Given the description of an element on the screen output the (x, y) to click on. 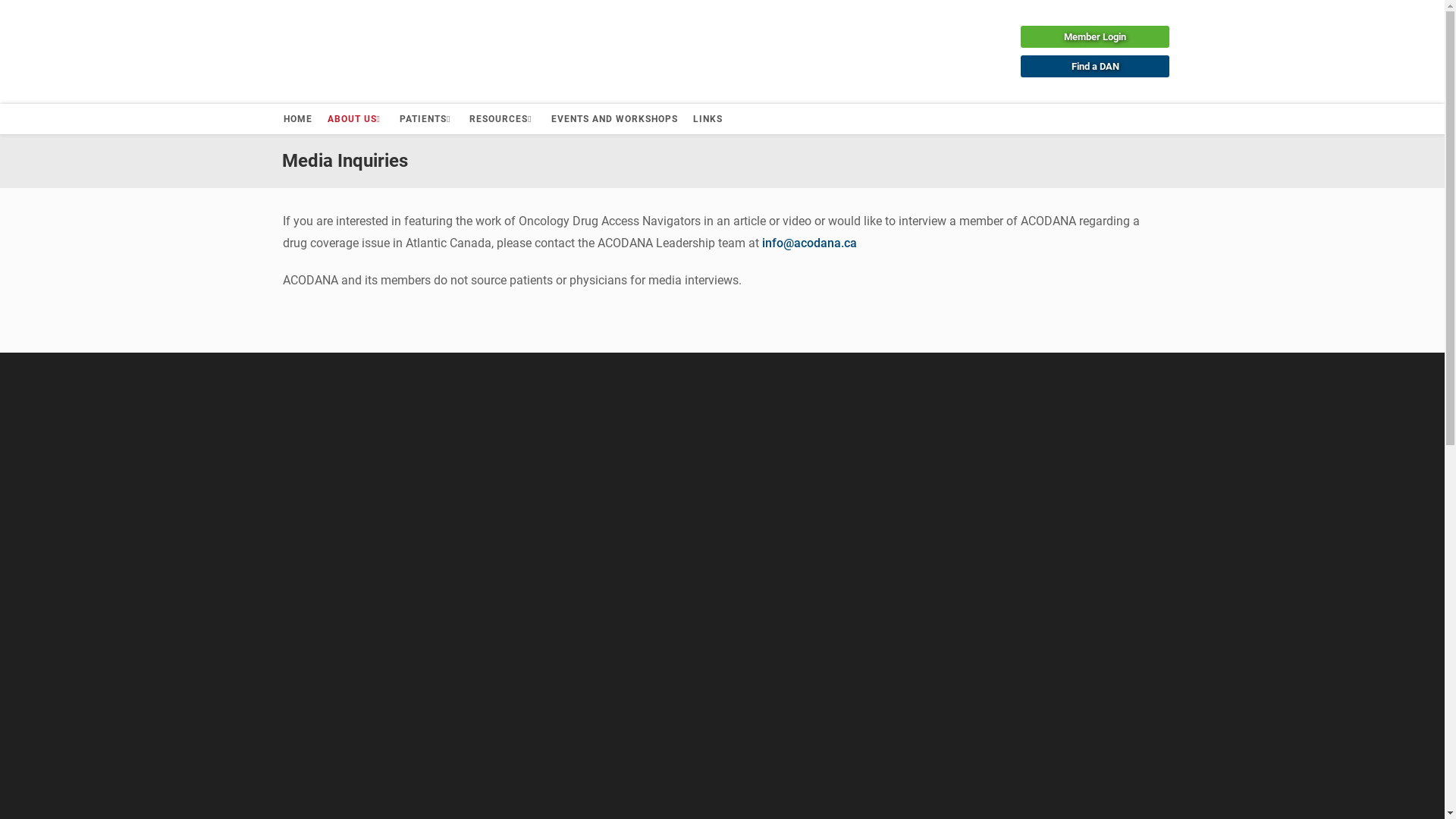
EVENTS AND WORKSHOPS Element type: text (614, 118)
Member Login Element type: text (1094, 36)
HOME Element type: text (298, 118)
ABOUT US Element type: text (356, 118)
LINKS Element type: text (707, 118)
RESOURCES Element type: text (501, 118)
PATIENTS Element type: text (426, 118)
Find a DAN Element type: text (1094, 66)
info@acodana.ca Element type: text (808, 242)
